Given the description of an element on the screen output the (x, y) to click on. 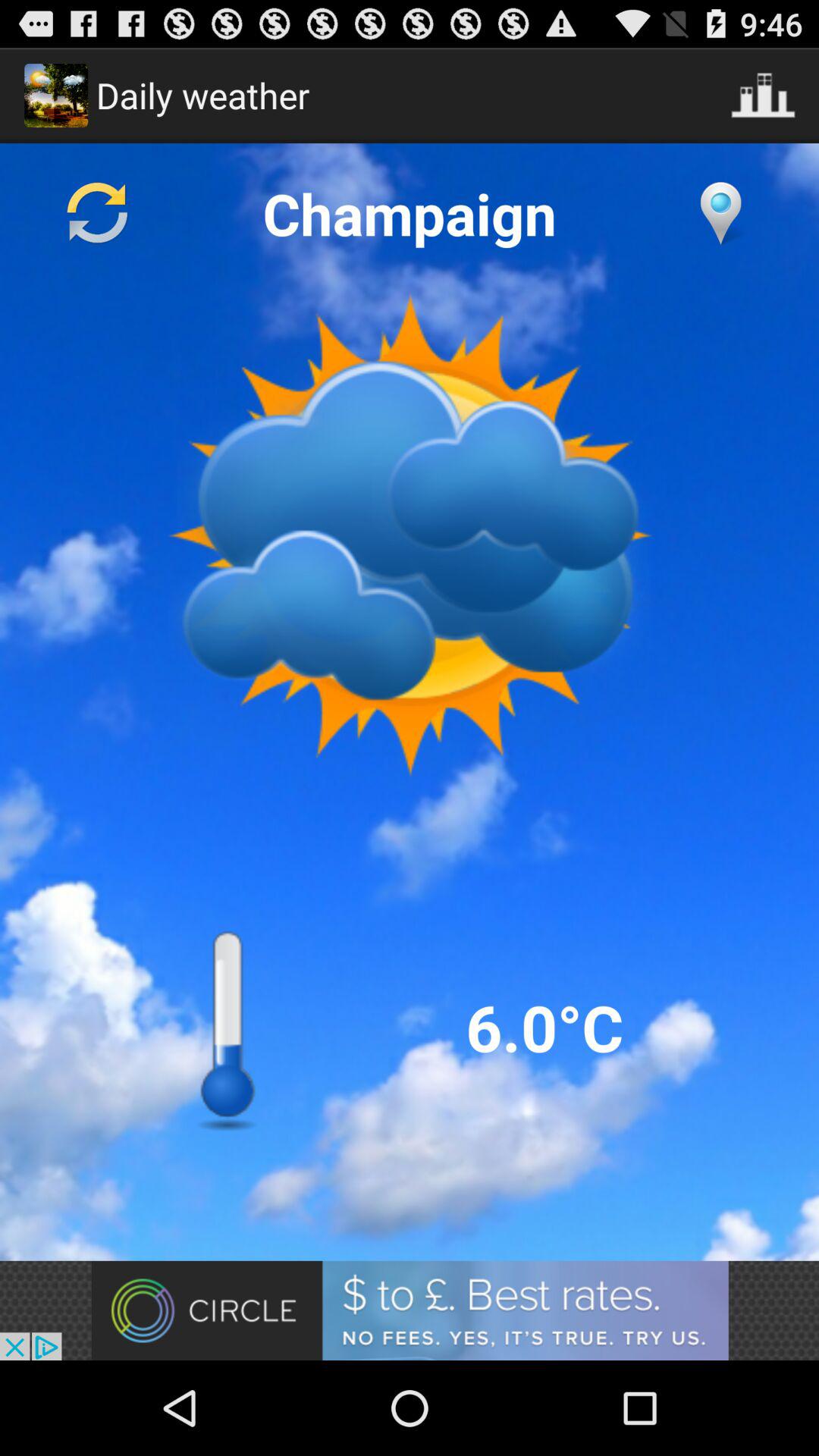
reload screen (98, 213)
